Given the description of an element on the screen output the (x, y) to click on. 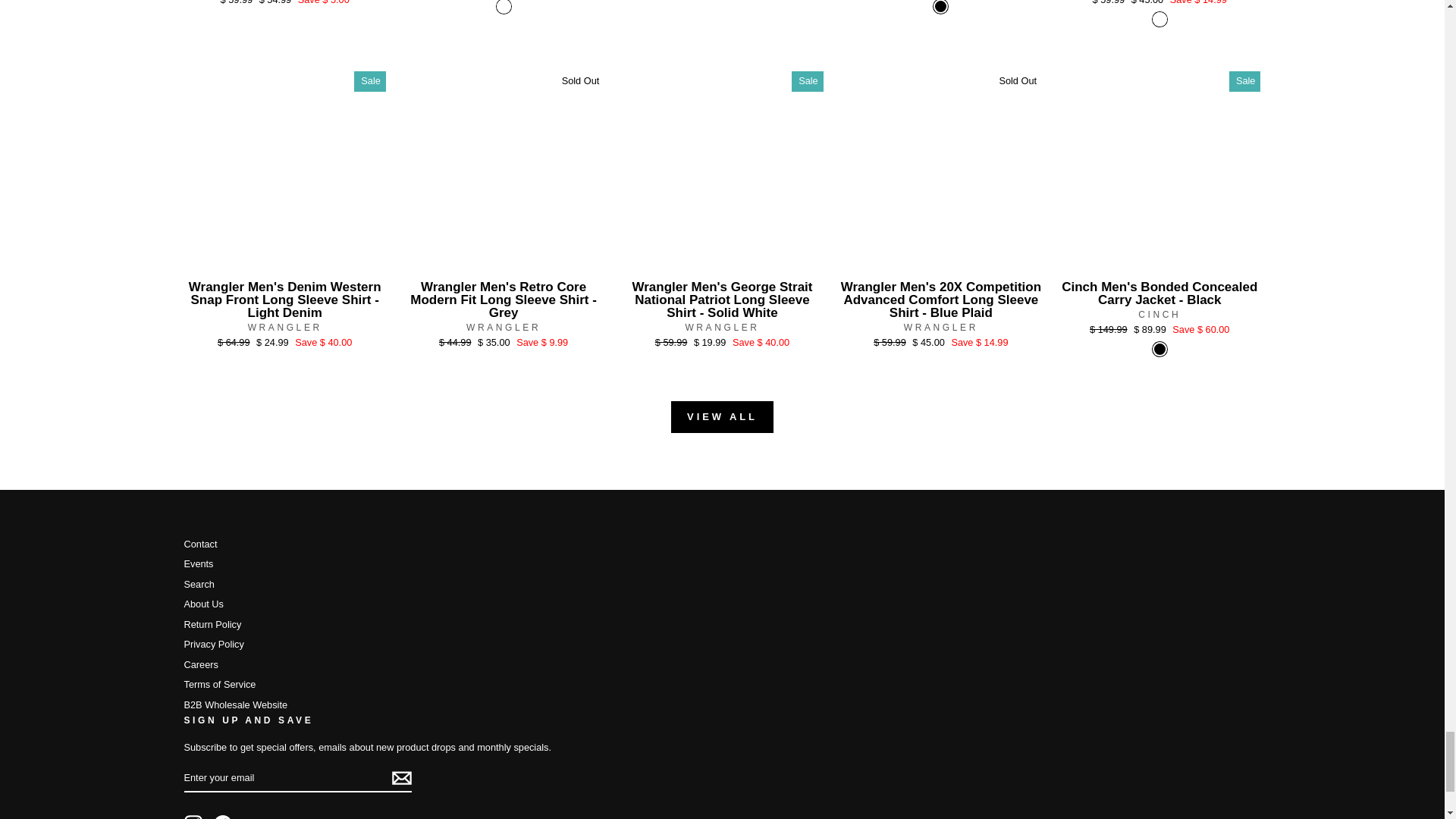
Lazy J Ranch Wear Stores on Facebook (222, 816)
Lazy J Ranch Wear Stores on Instagram (192, 816)
instagram (192, 816)
icon-email (400, 778)
